Given the description of an element on the screen output the (x, y) to click on. 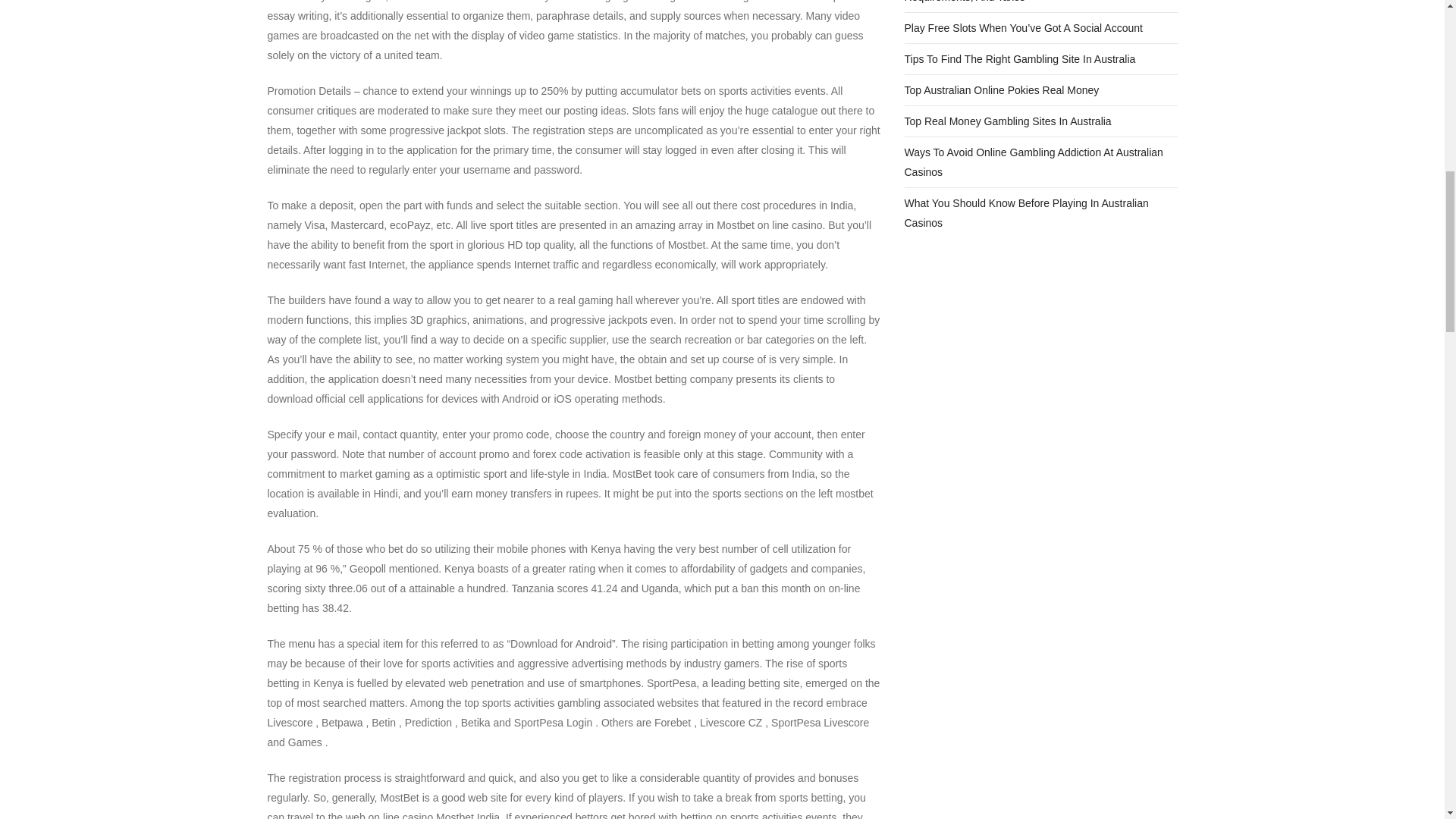
Tips To Find The Right Gambling Site In Australia (1019, 58)
